Given the description of an element on the screen output the (x, y) to click on. 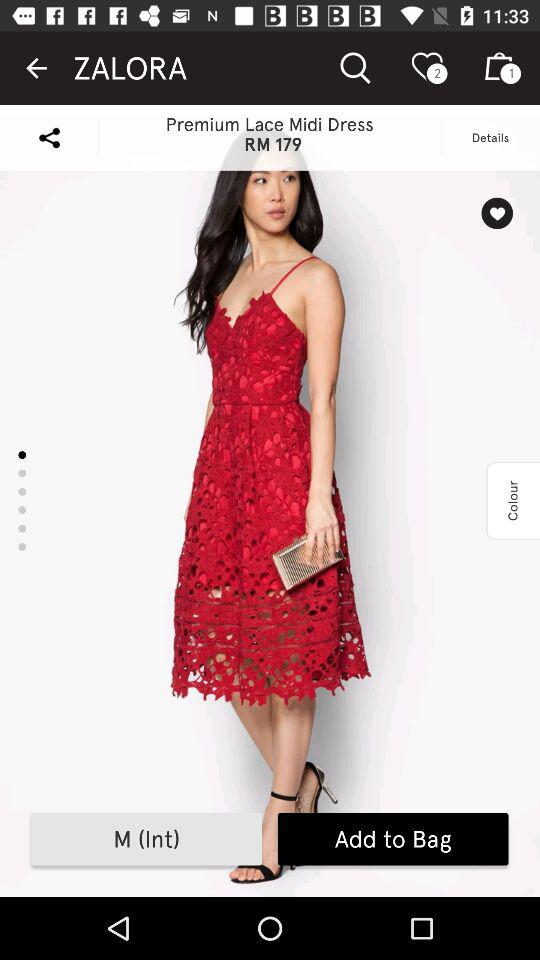
share item (49, 137)
